Given the description of an element on the screen output the (x, y) to click on. 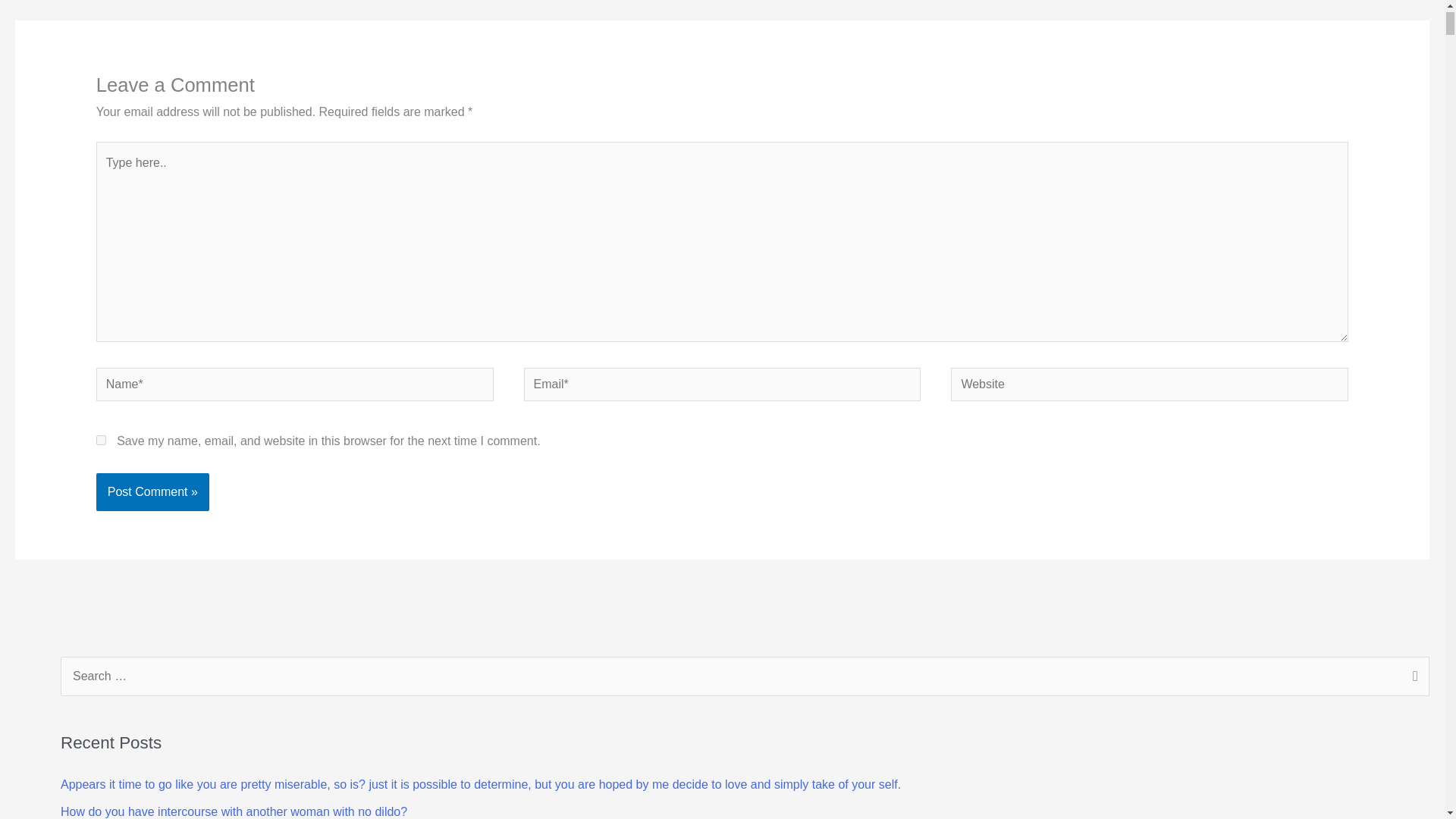
yes (101, 439)
